Given the description of an element on the screen output the (x, y) to click on. 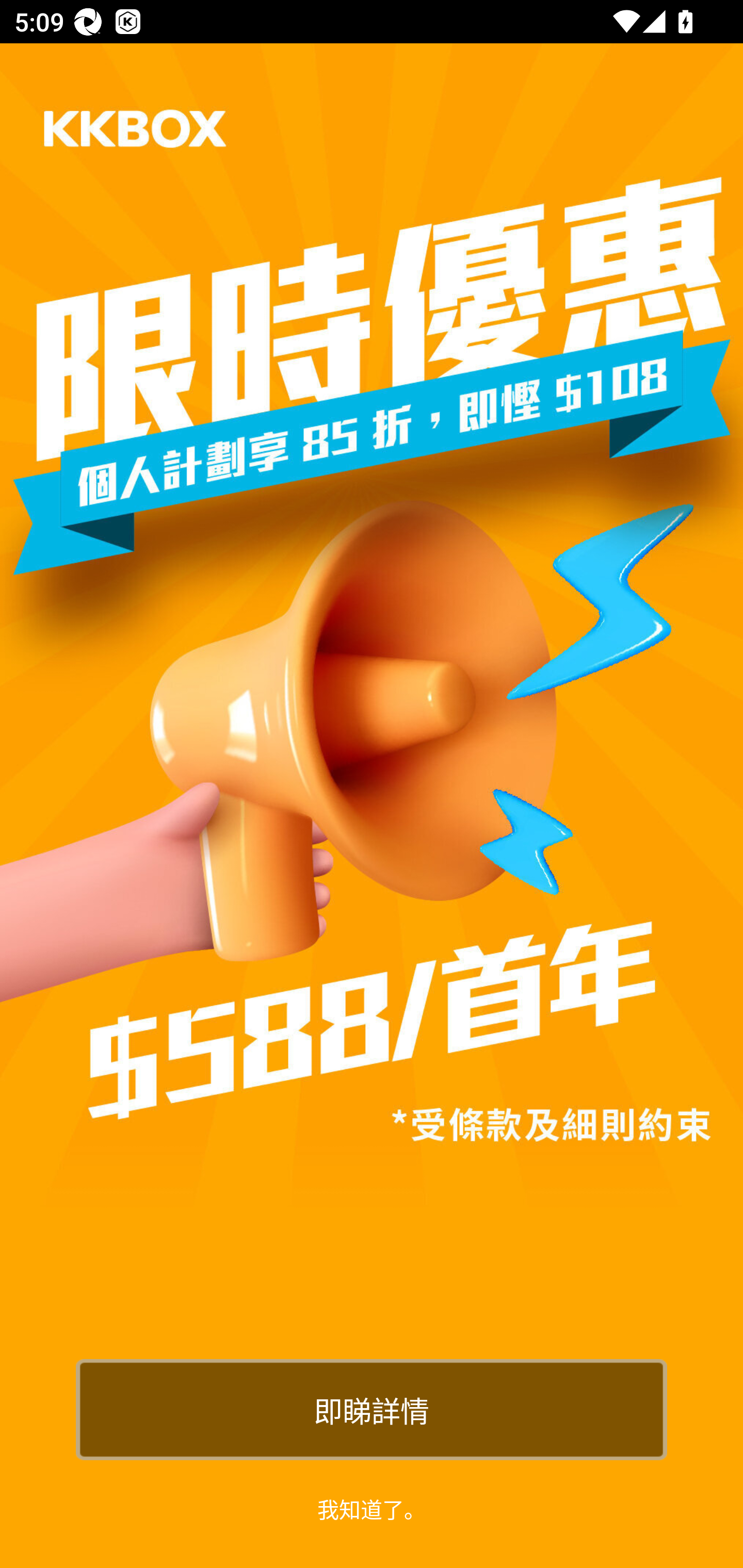
即睇詳情 (371, 1409)
我知道了。 (371, 1508)
